Given the description of an element on the screen output the (x, y) to click on. 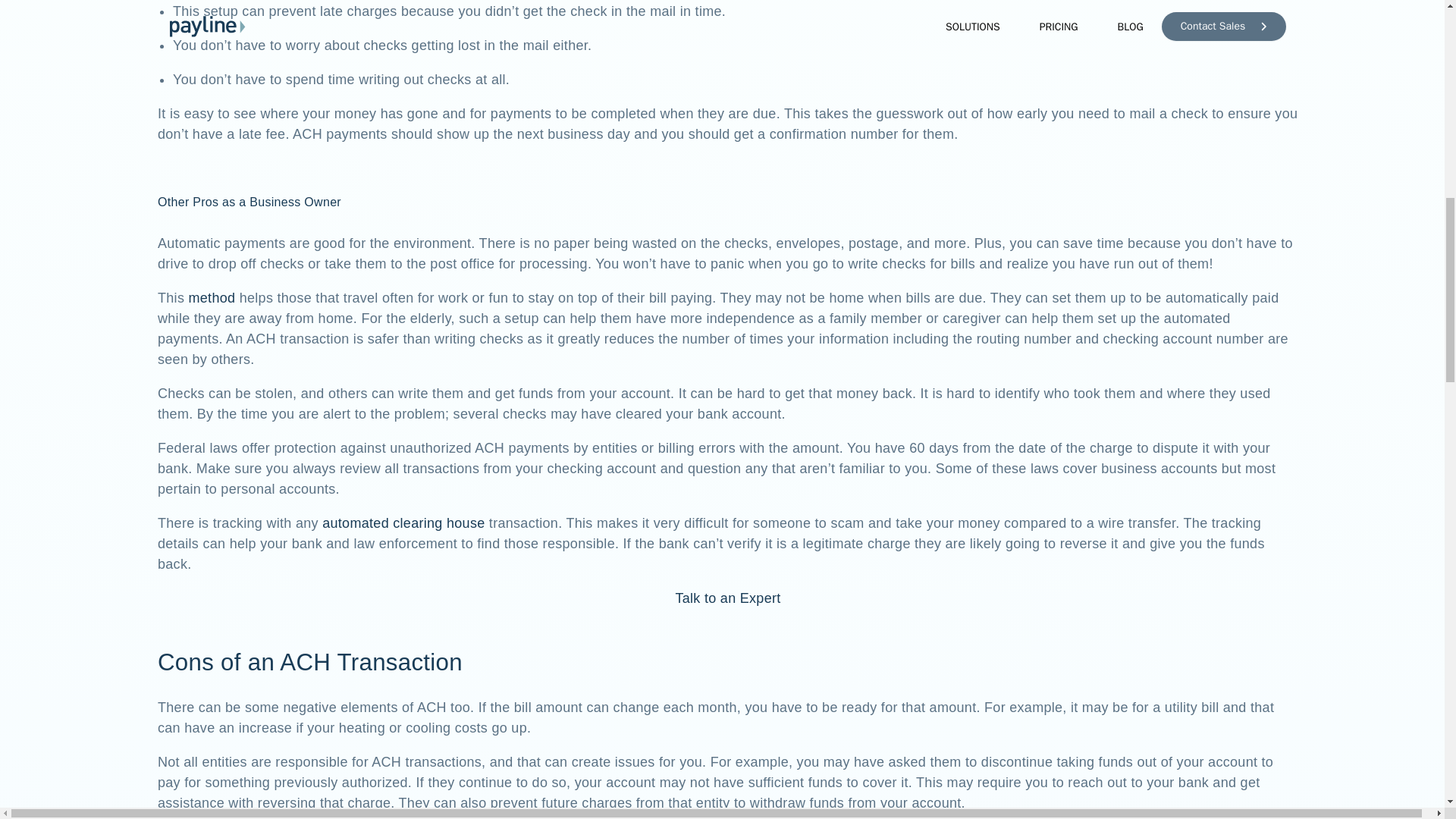
method (212, 297)
automated clearing house (402, 522)
Talk to an Expert (727, 598)
